Given the description of an element on the screen output the (x, y) to click on. 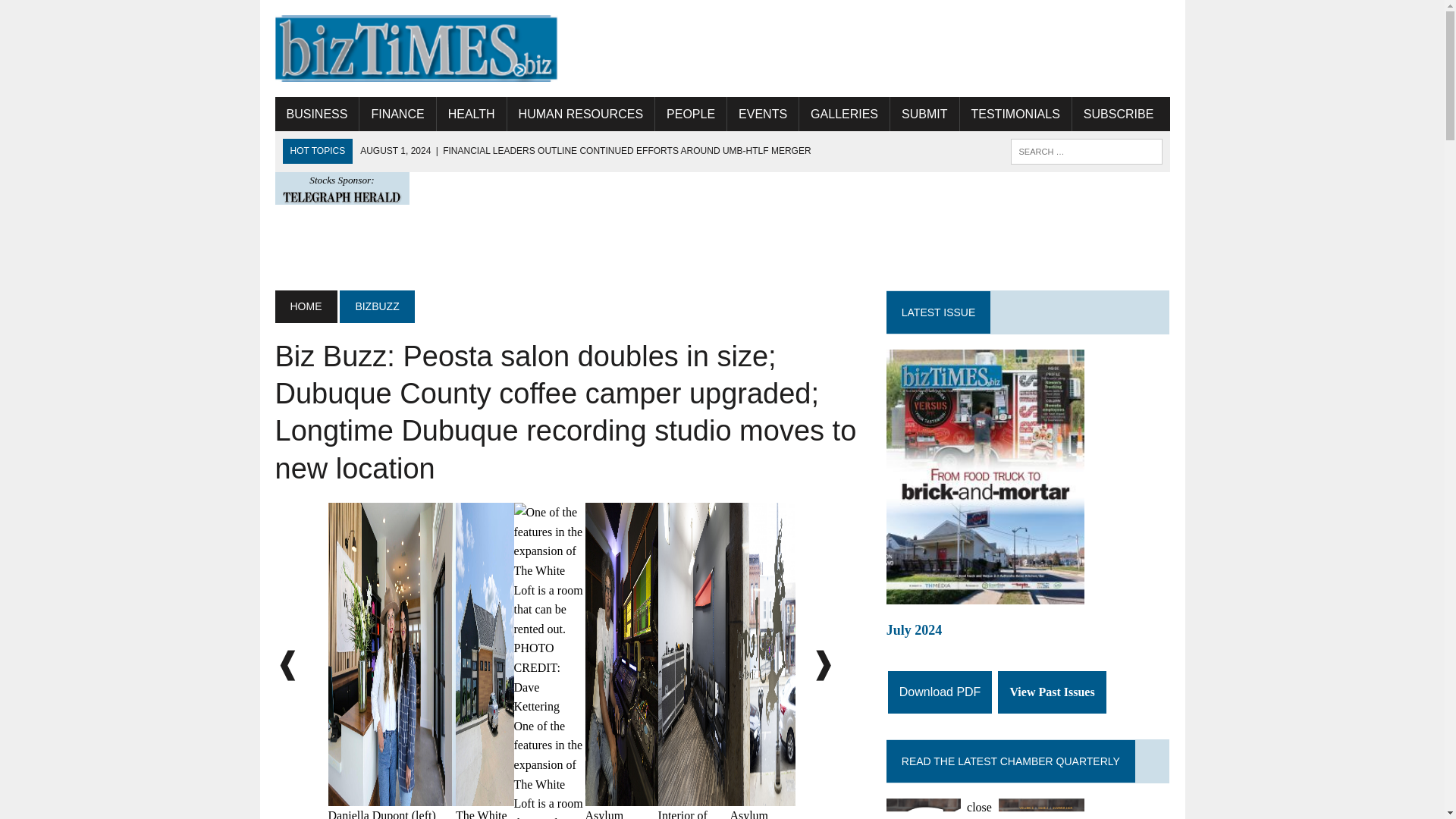
PEOPLE (690, 114)
HOME (305, 306)
SUBMIT (923, 114)
GALLERIES (844, 114)
Download PDF (940, 691)
BIZBUZZ (376, 306)
BUSINESS (316, 114)
HUMAN RESOURCES (579, 114)
FINANCE (397, 114)
BizTimes.biz (416, 48)
EVENTS (761, 114)
TESTIMONIALS (1015, 114)
SUBSCRIBE (1117, 114)
HEALTH (471, 114)
